Given the description of an element on the screen output the (x, y) to click on. 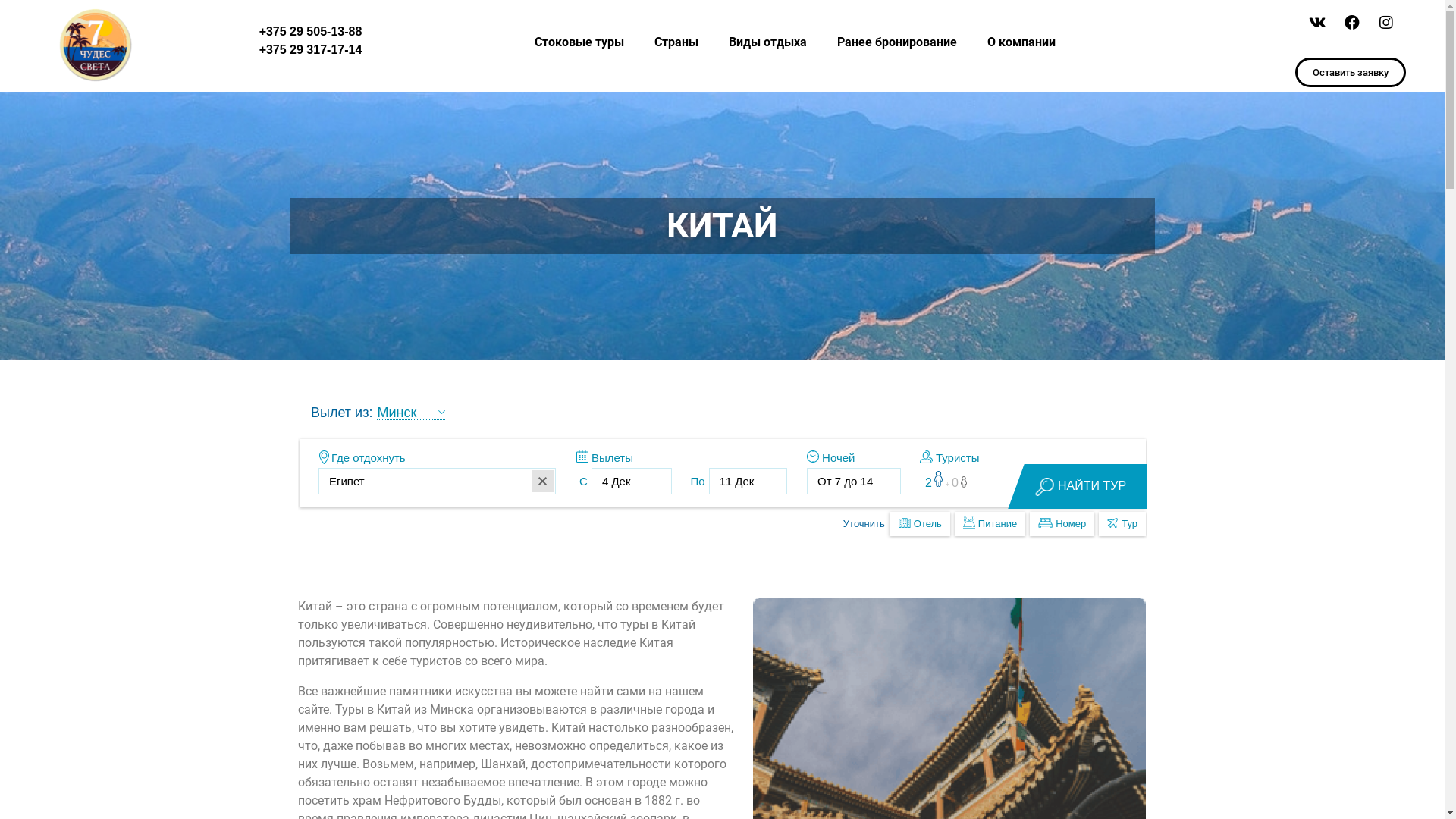
+375 29 317-17-14 Element type: text (310, 49)
+375 29 505-13-88 Element type: text (310, 31)
